Given the description of an element on the screen output the (x, y) to click on. 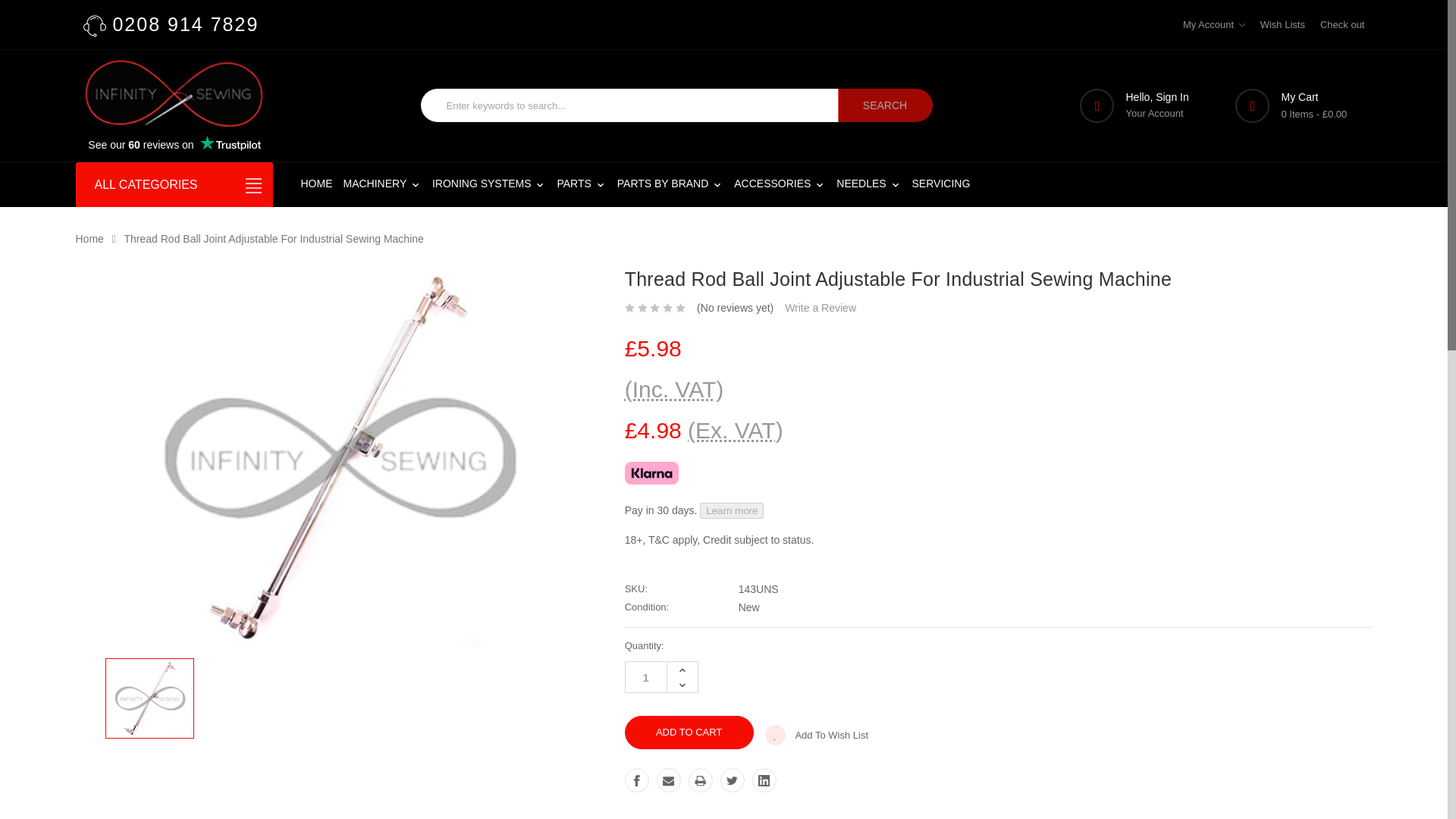
Excluding Tax (673, 389)
1 (646, 676)
Excluding Tax (735, 430)
Infinity Sewing (174, 92)
Add to Cart (689, 732)
Click here to proceed to checkout (1343, 24)
Customer reviews powered by Trustpilot (174, 144)
